Given the description of an element on the screen output the (x, y) to click on. 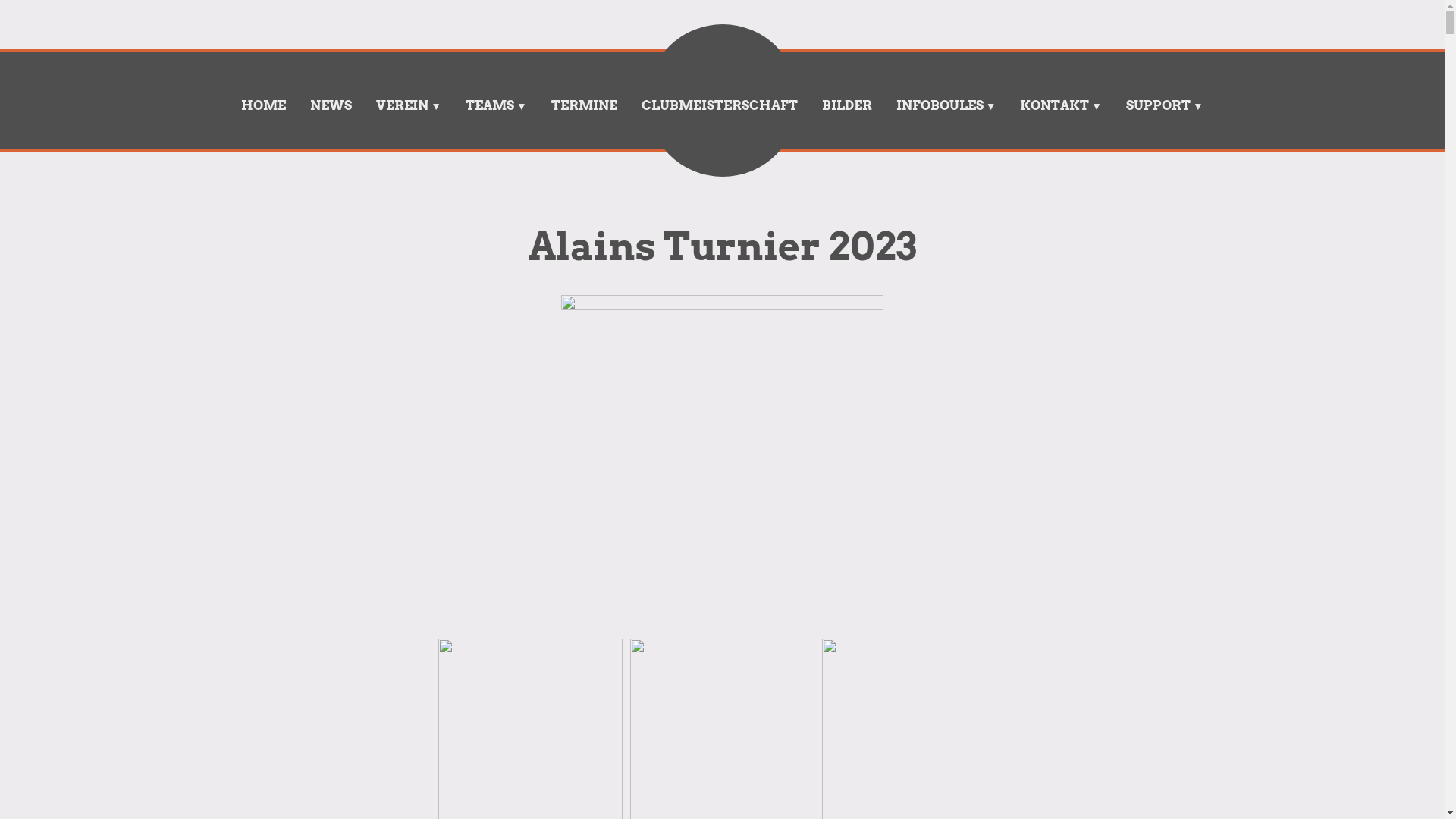
Alains Turnier 2023 Element type: text (721, 246)
NEWS Element type: text (331, 106)
INFOBOULES Element type: text (946, 106)
TERMINE Element type: text (584, 106)
VEREIN Element type: text (408, 106)
SUPPORT Element type: text (1164, 106)
TEAMS Element type: text (496, 106)
KONTAKT Element type: text (1060, 106)
HOME Element type: text (263, 106)
CLUBMEISTERSCHAFT Element type: text (719, 106)
LES AMIS DES BOULES Zug Element type: text (206, 89)
BILDER Element type: text (846, 106)
